Given the description of an element on the screen output the (x, y) to click on. 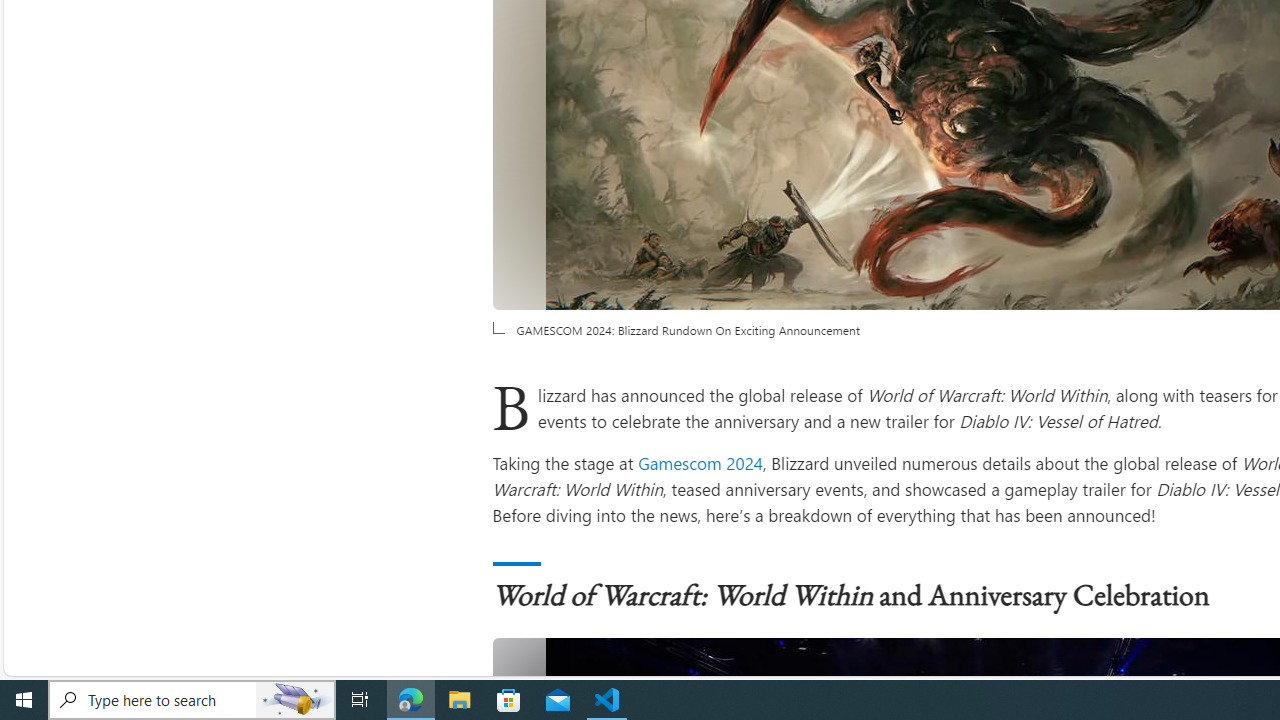
Gamescom 2024 (700, 462)
